Given the description of an element on the screen output the (x, y) to click on. 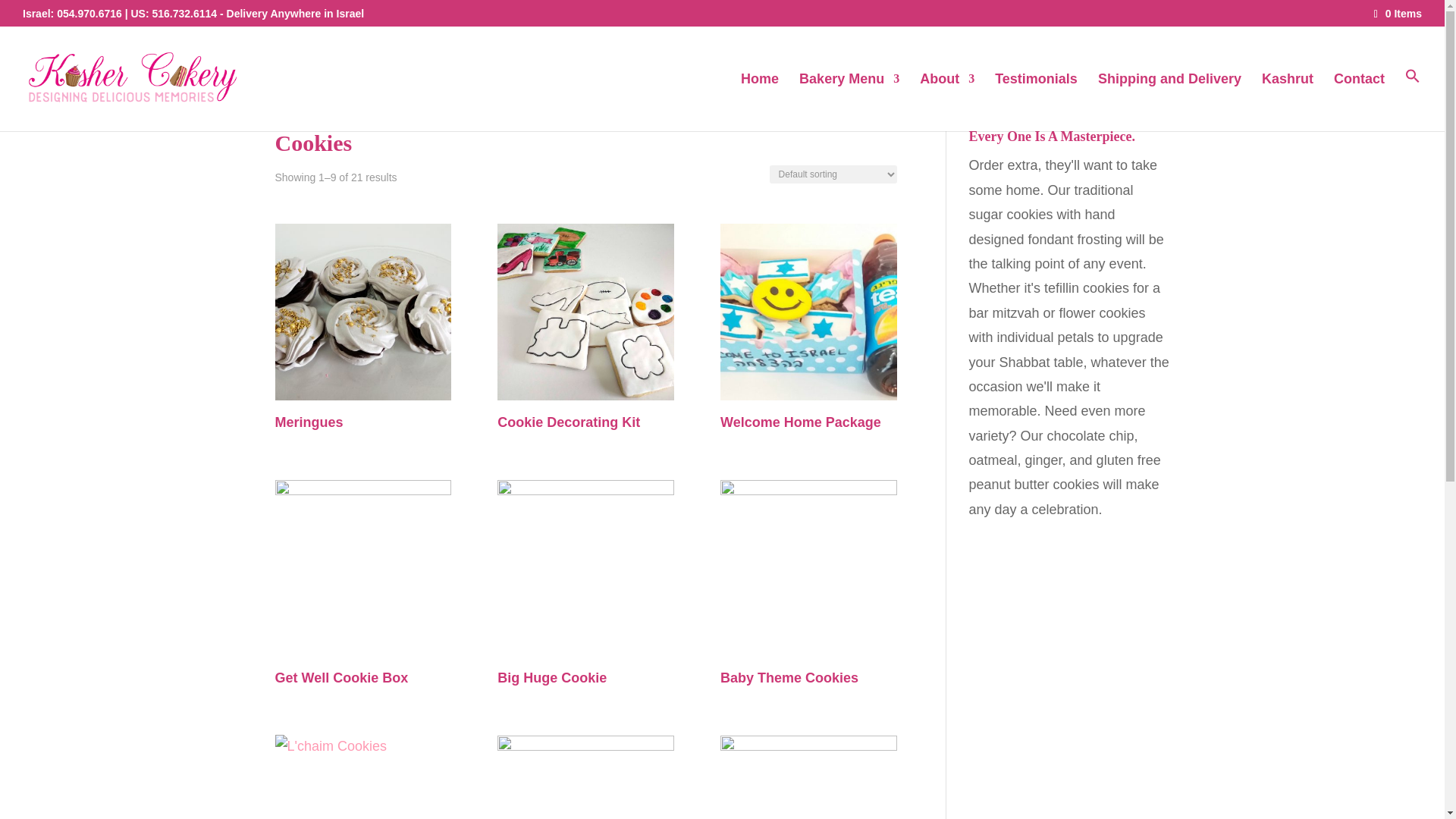
About (947, 101)
0 Items (1398, 13)
Bakery Menu (849, 101)
